Given the description of an element on the screen output the (x, y) to click on. 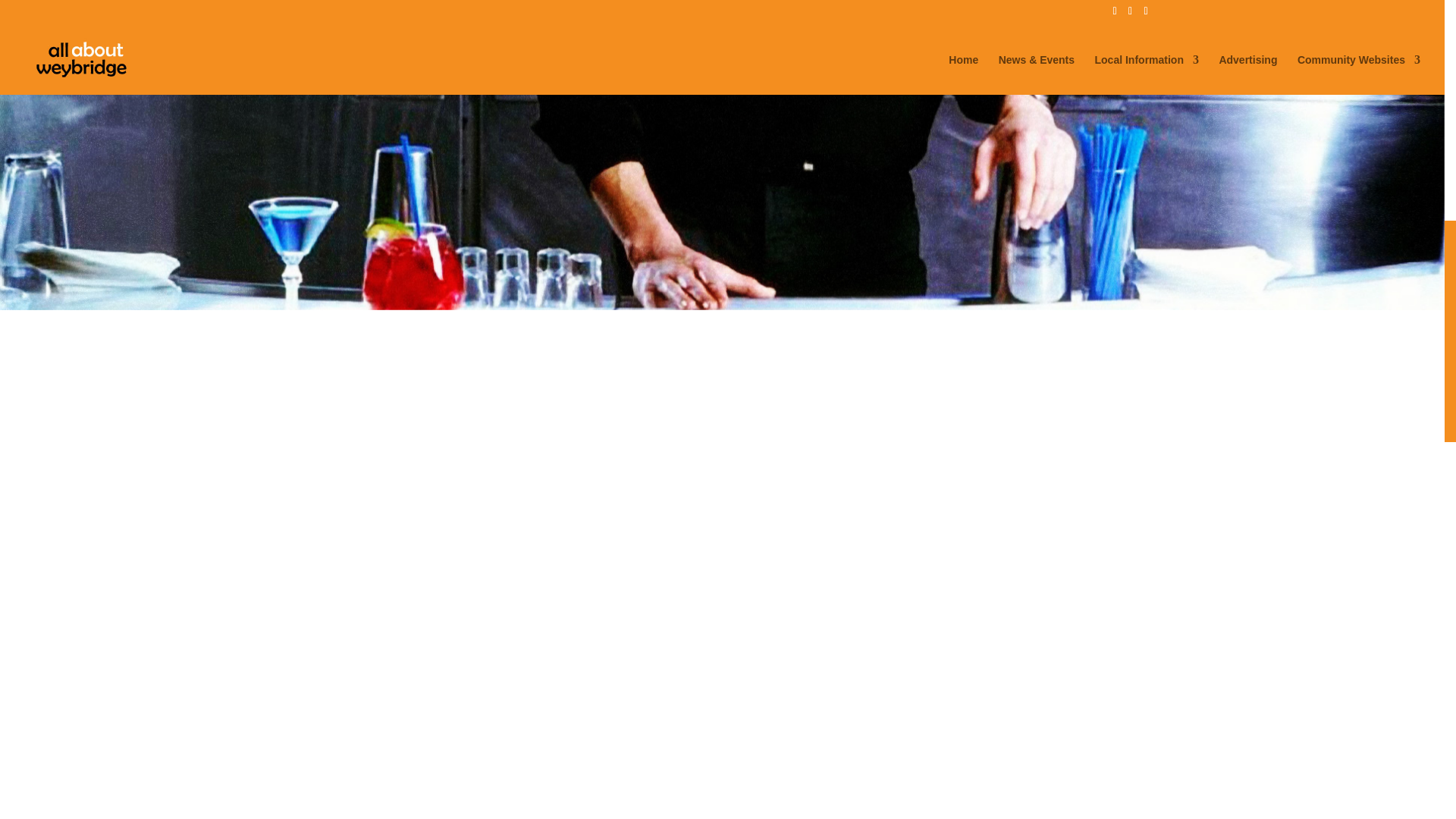
Cocktail Film Red Bar Weybridge (481, 116)
